Given the description of an element on the screen output the (x, y) to click on. 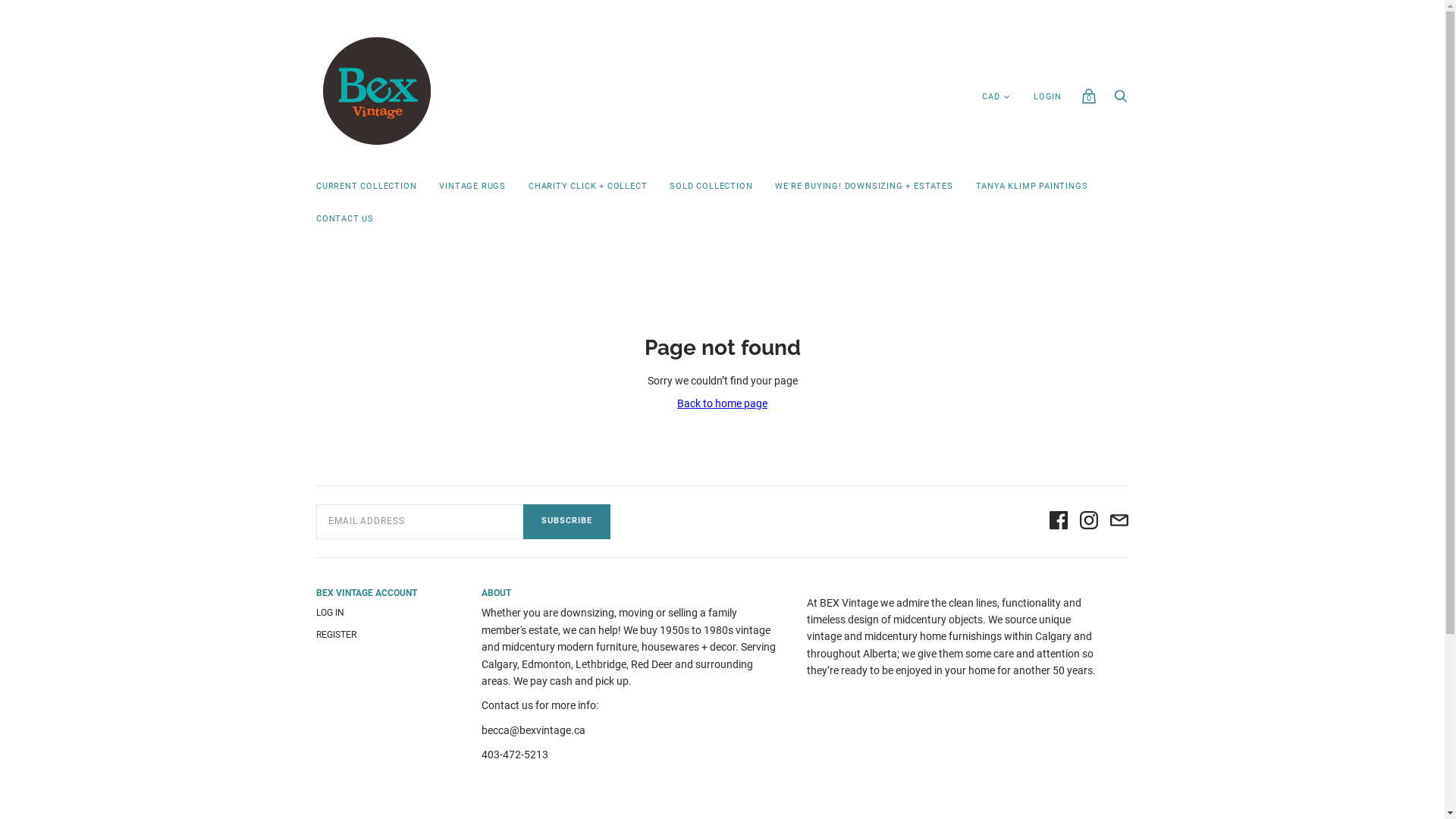
LOGIN Element type: text (1047, 97)
0 Element type: text (1088, 100)
LOG IN Element type: text (330, 612)
SUBSCRIBE Element type: text (566, 521)
E-mail Element type: hover (1119, 521)
CHARITY CLICK + COLLECT Element type: text (587, 186)
CURRENT COLLECTION Element type: text (365, 186)
REGISTER Element type: text (336, 634)
Instagram Element type: hover (1088, 521)
SOLD COLLECTION Element type: text (710, 186)
Back to home page Element type: text (722, 403)
CONTACT US Element type: text (344, 219)
Facebook Element type: hover (1058, 521)
TANYA KLIMP PAINTINGS Element type: text (1031, 186)
VINTAGE RUGS Element type: text (472, 186)
WE'RE BUYING! DOWNSIZING + ESTATES Element type: text (863, 186)
